Given the description of an element on the screen output the (x, y) to click on. 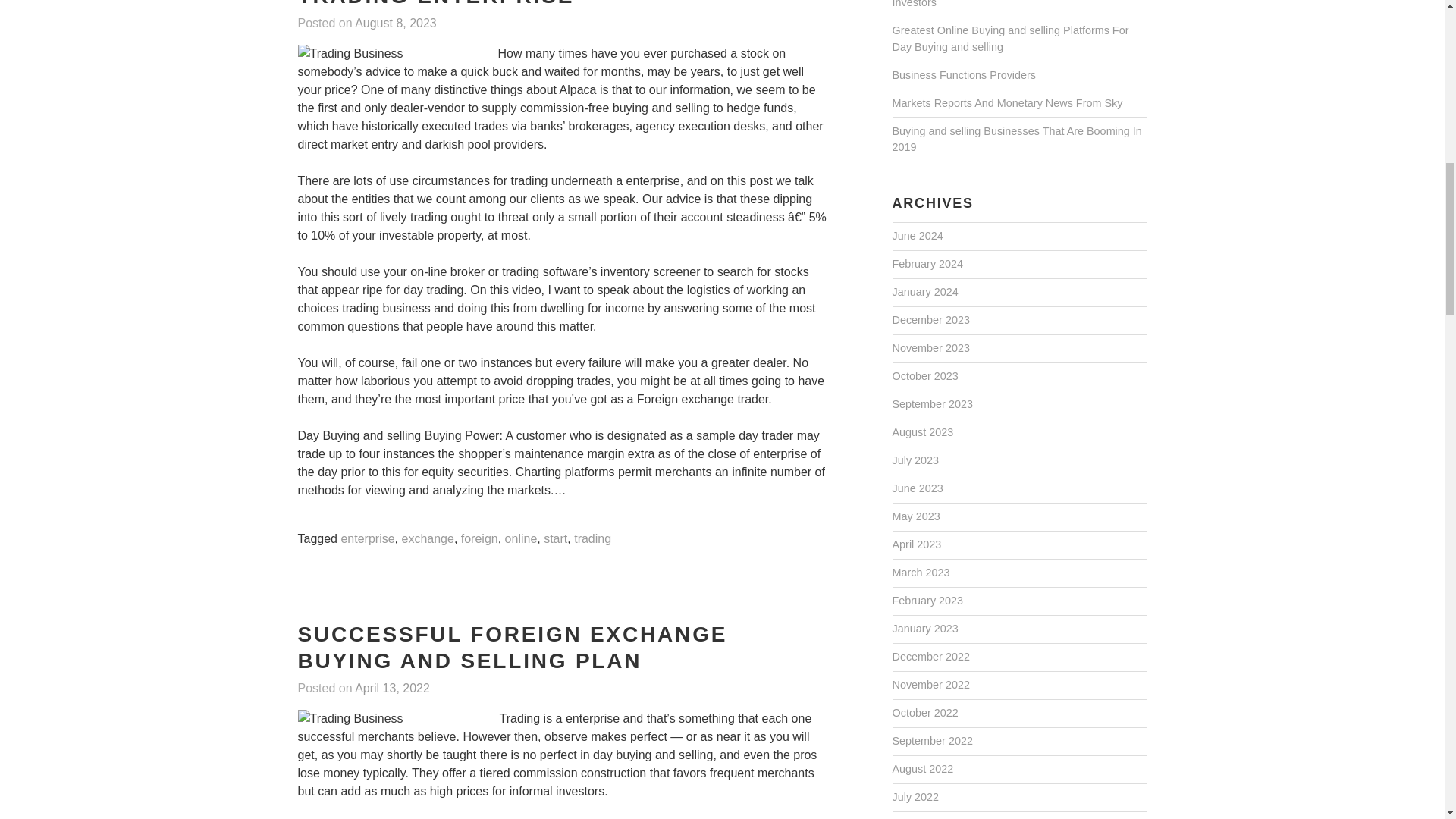
SUCCESSFUL FOREIGN EXCHANGE BUYING AND SELLING PLAN (511, 648)
foreign (479, 539)
August 8, 2023 (395, 23)
online (521, 539)
START AN ONLINE FOREIGN EXCHANGE TRADING ENTERPRISE (540, 4)
exchange (426, 539)
trading (592, 539)
enterprise (367, 539)
April 13, 2022 (392, 688)
start (555, 539)
